Given the description of an element on the screen output the (x, y) to click on. 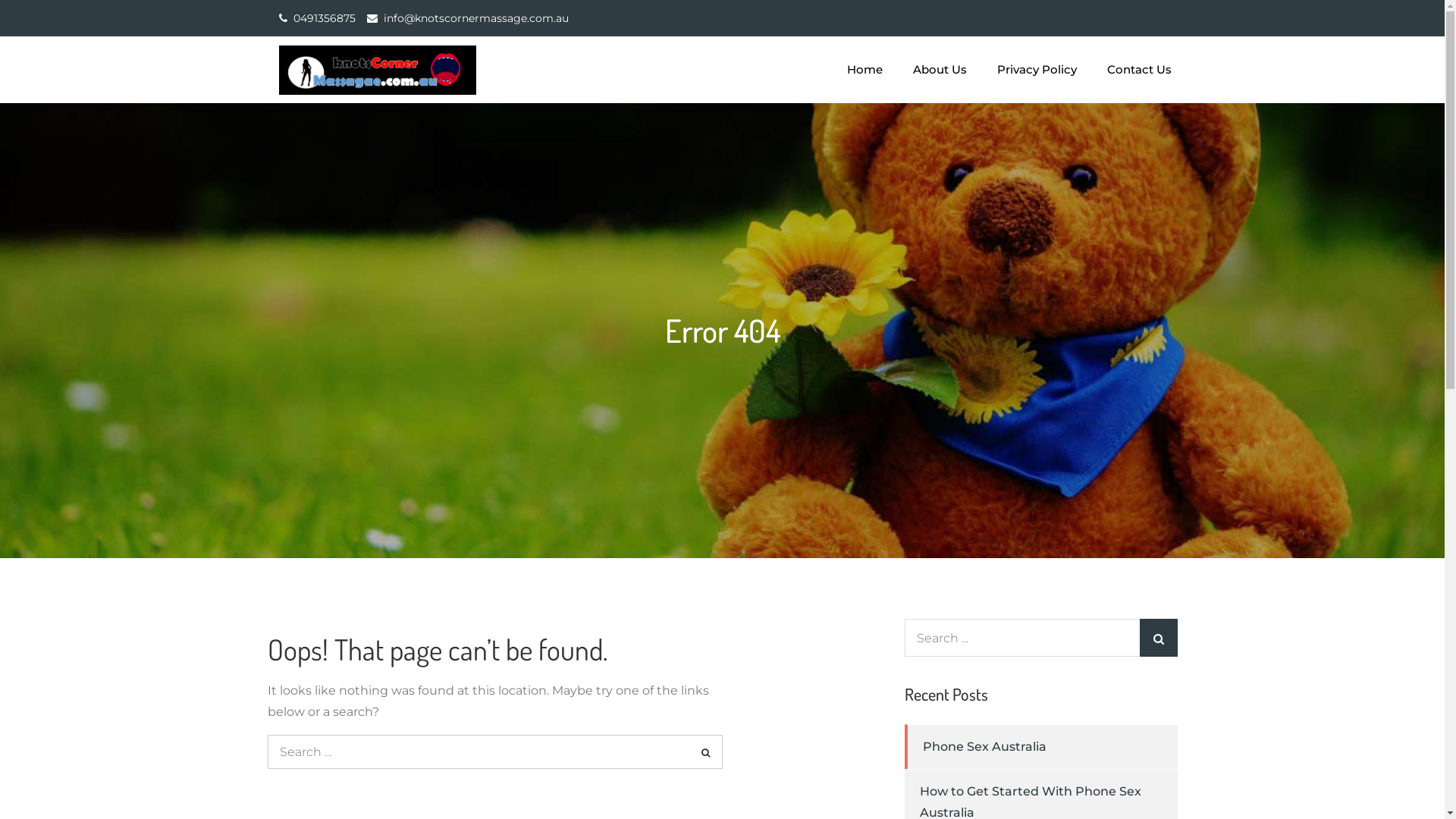
Search for: Element type: hover (1039, 637)
Search Element type: text (705, 751)
Search for: Element type: hover (493, 751)
About Us Element type: text (939, 69)
Home Element type: text (863, 69)
Contact Us Element type: text (1139, 69)
Phone Sex Australia Element type: text (983, 746)
info@knotscornermassage.com.au Element type: text (475, 18)
0491356875 Element type: text (323, 18)
Search Element type: text (1157, 637)
Privacy Policy Element type: text (1035, 69)
